Given the description of an element on the screen output the (x, y) to click on. 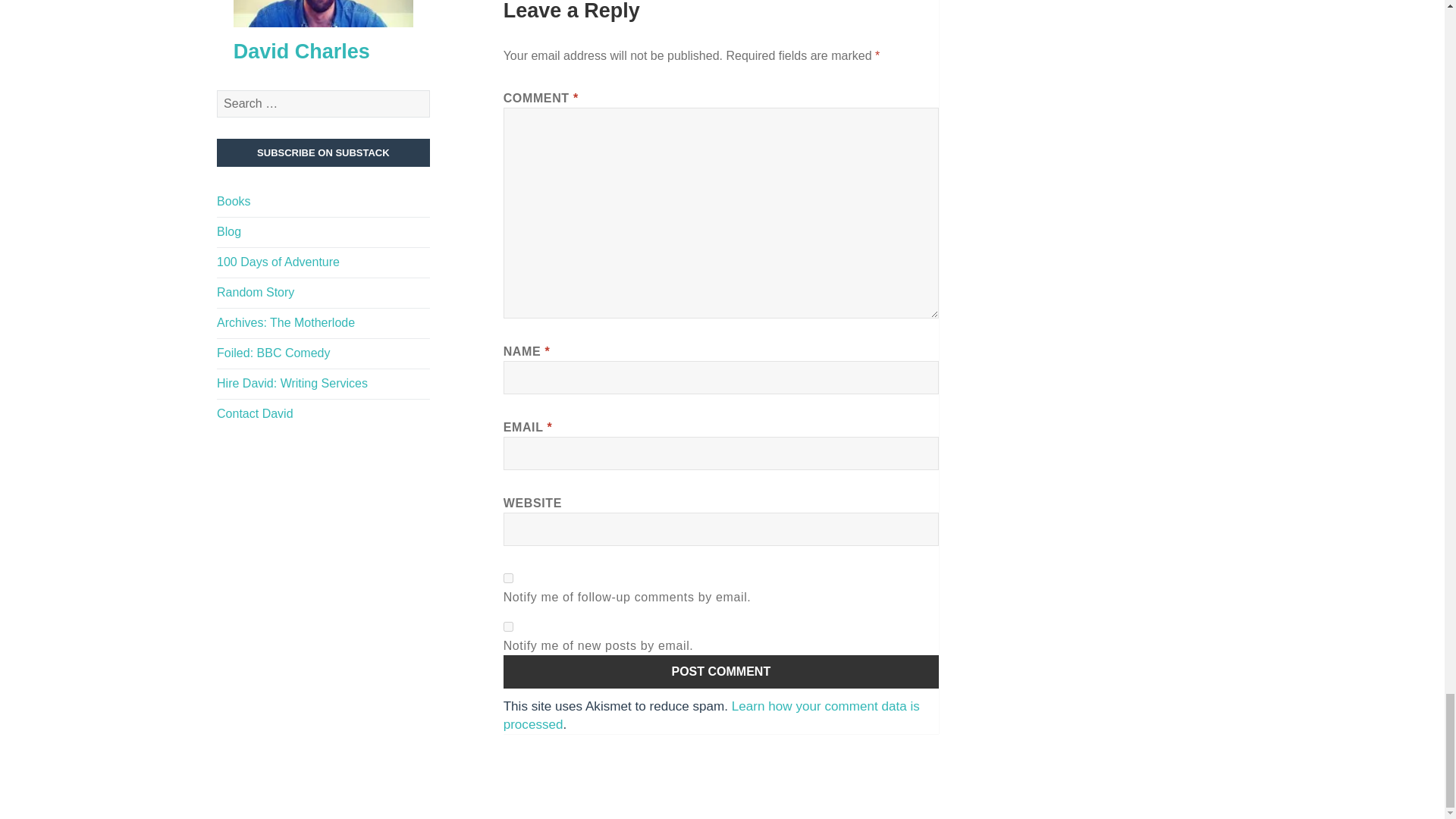
Post Comment (721, 671)
subscribe (508, 578)
subscribe (508, 626)
